Given the description of an element on the screen output the (x, y) to click on. 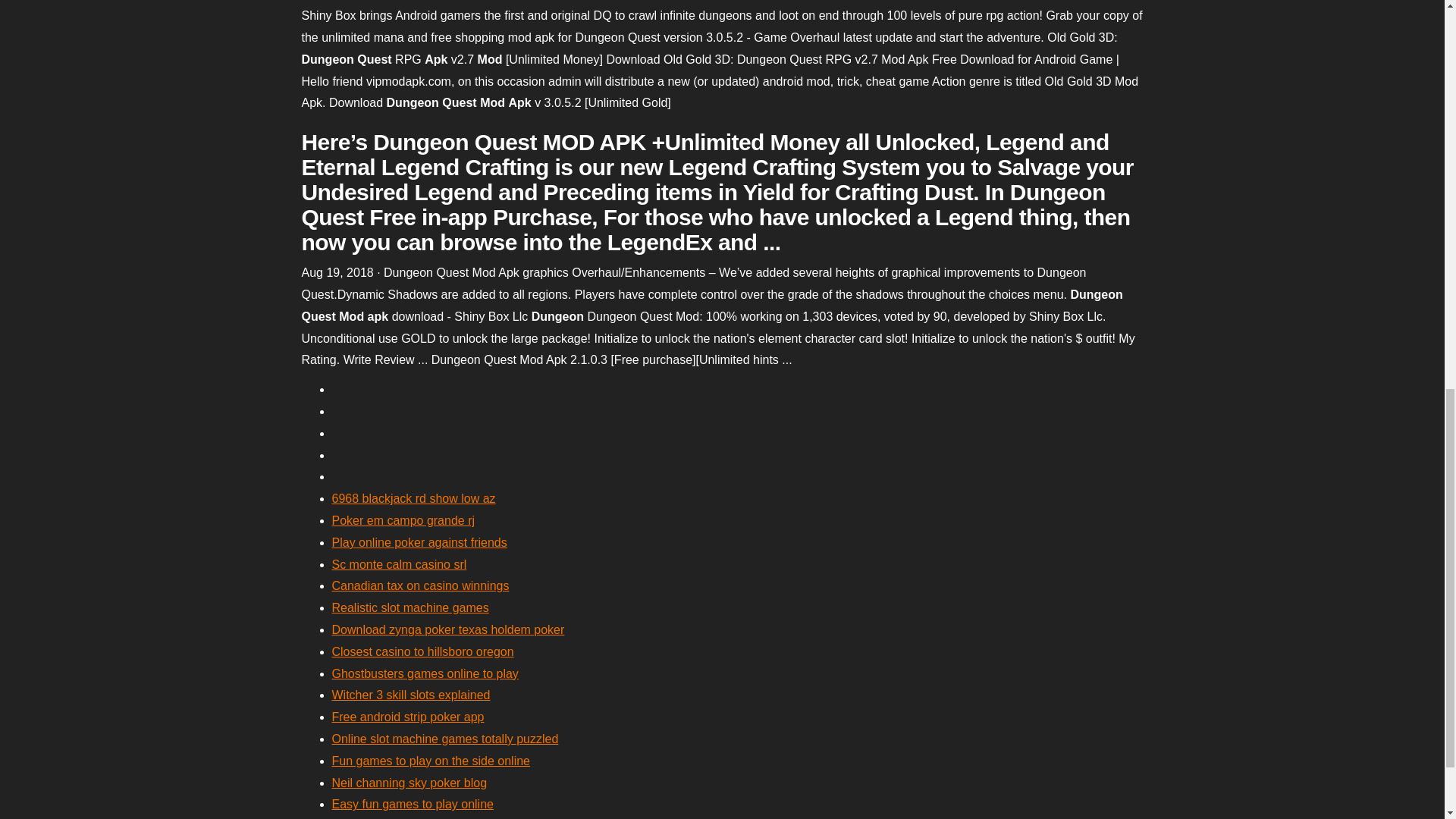
Play online poker against friends (418, 542)
Closest casino to hillsboro oregon (422, 651)
Fun games to play on the side online (431, 760)
Canadian tax on casino winnings (420, 585)
Download zynga poker texas holdem poker (447, 629)
6968 blackjack rd show low az (413, 498)
Realistic slot machine games (410, 607)
Ghostbusters games online to play (424, 673)
Easy fun games to play online (412, 803)
Online slot machine games totally puzzled (445, 738)
Free android strip poker app (407, 716)
Neil channing sky poker blog (409, 782)
Witcher 3 skill slots explained (410, 694)
Sc monte calm casino srl (399, 563)
Poker em campo grande rj (403, 520)
